Given the description of an element on the screen output the (x, y) to click on. 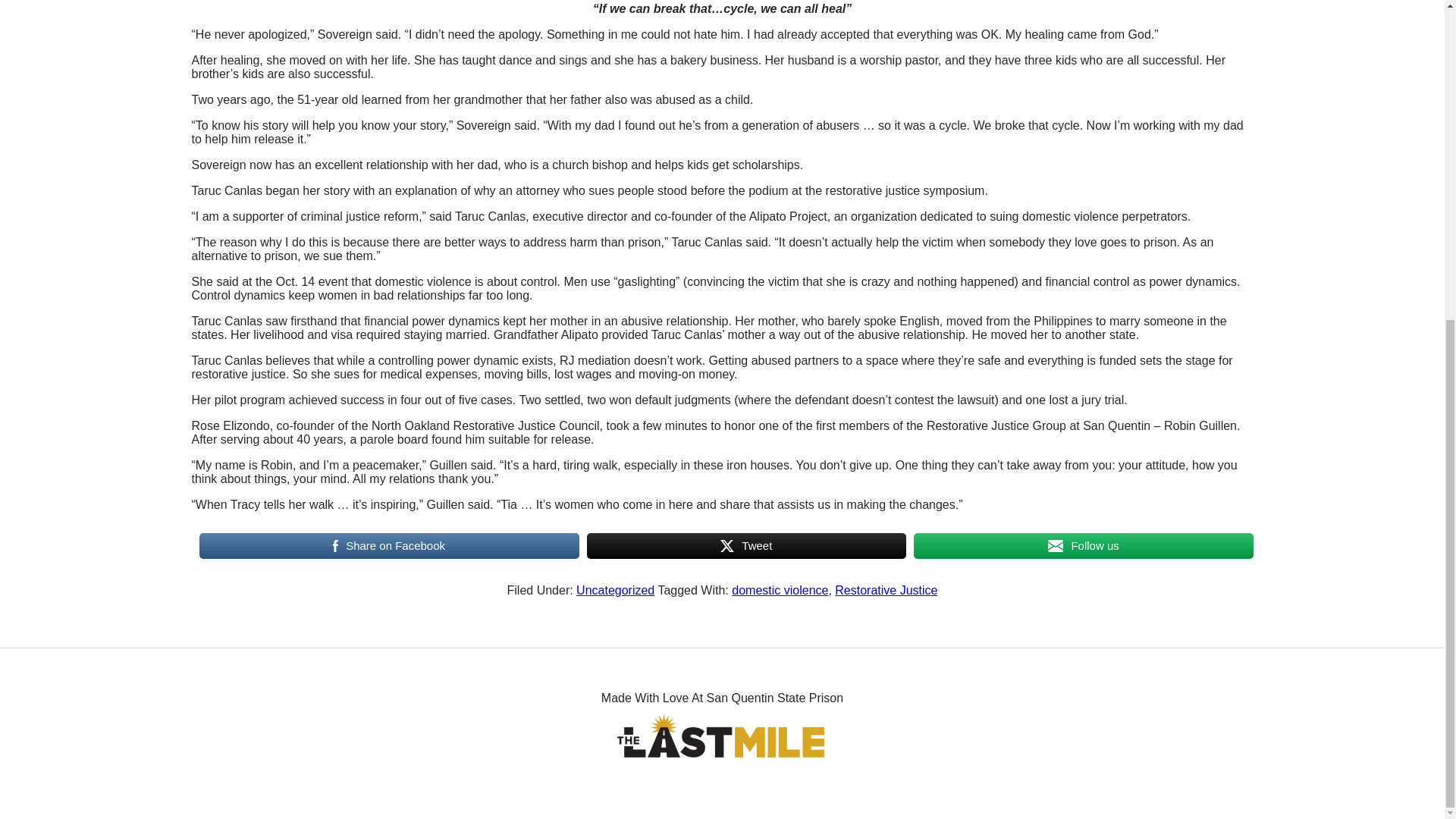
Restorative Justice (885, 590)
Uncategorized (614, 590)
Tweet (745, 545)
domestic violence (780, 590)
Follow us (1083, 545)
Share on Facebook (388, 545)
